Given the description of an element on the screen output the (x, y) to click on. 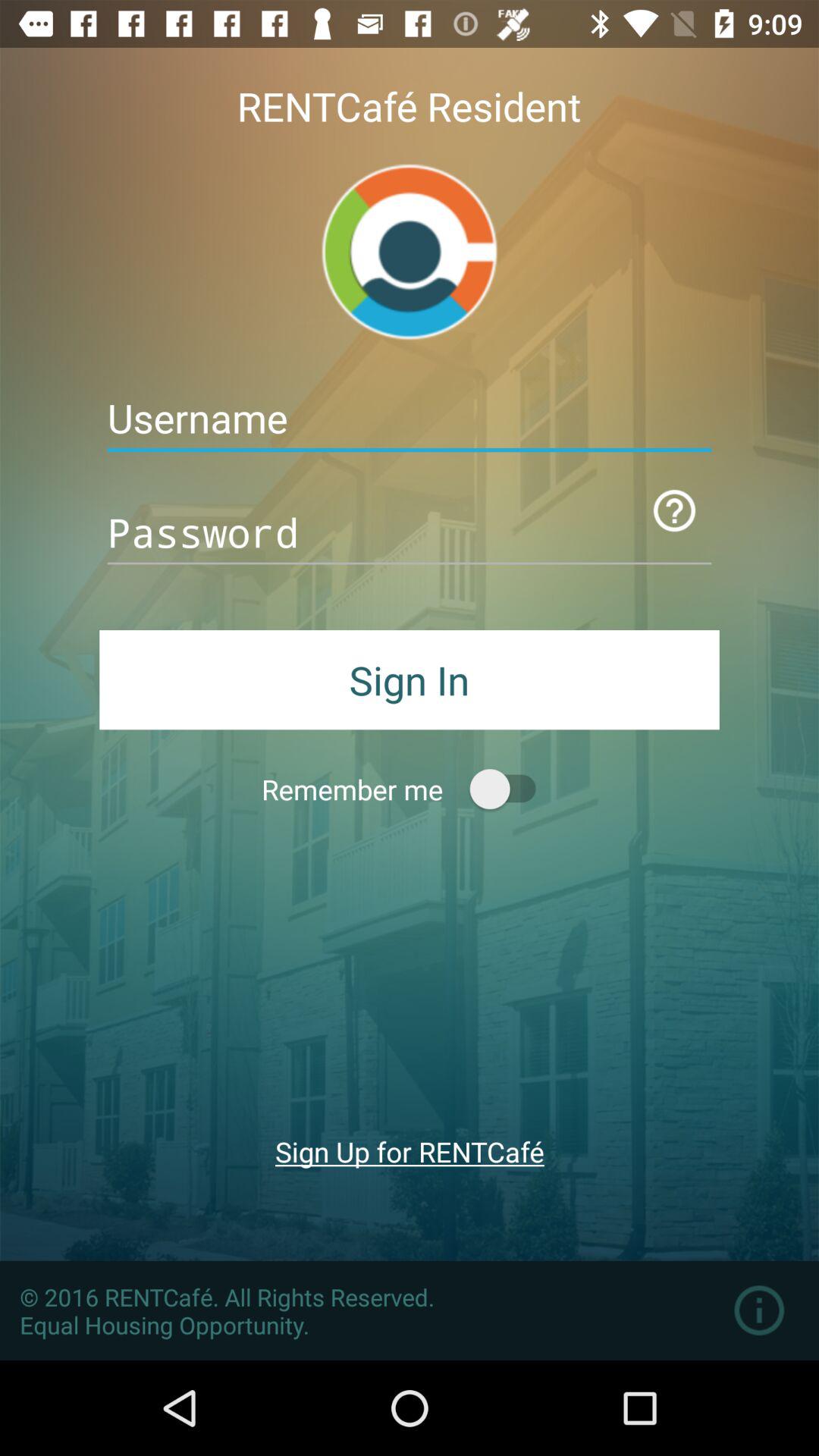
input username (409, 418)
